Given the description of an element on the screen output the (x, y) to click on. 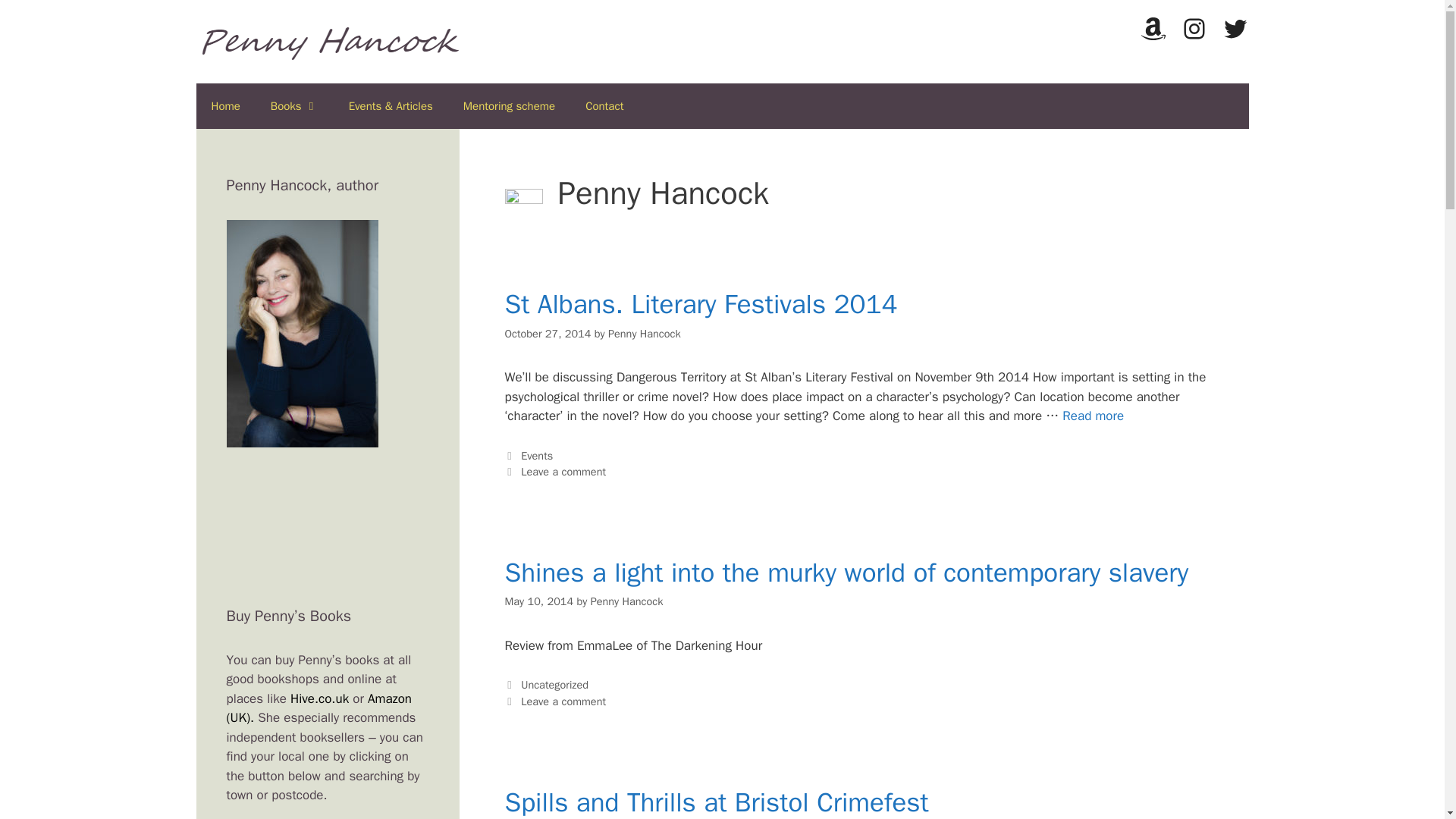
Contact (604, 105)
St Albans. Literary Festivals 2014 (701, 304)
View all posts by Penny Hancock (644, 333)
Penny Hancock (644, 333)
Leave a comment (563, 471)
View all posts by Penny Hancock (627, 601)
Books (294, 105)
Penny Hancock (627, 601)
Leave a comment (563, 701)
Events (537, 455)
